Given the description of an element on the screen output the (x, y) to click on. 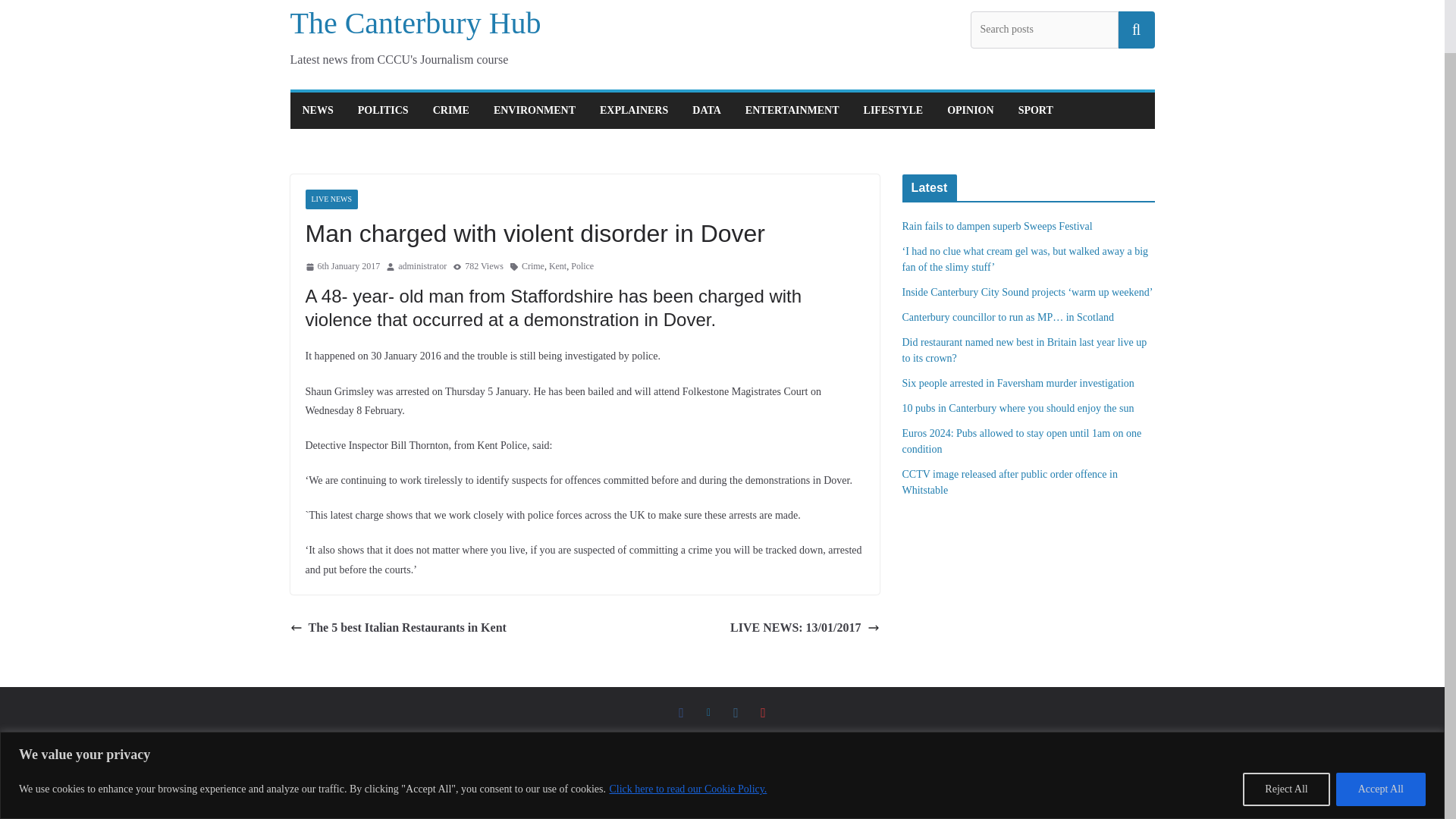
administrator (421, 266)
SPORT (1034, 110)
Kent (557, 266)
Crime (532, 266)
Search (1136, 29)
Accept All (1380, 731)
LIVE NEWS (331, 199)
ENVIRONMENT (534, 110)
EXPLAINERS (633, 110)
LIFESTYLE (893, 110)
